Given the description of an element on the screen output the (x, y) to click on. 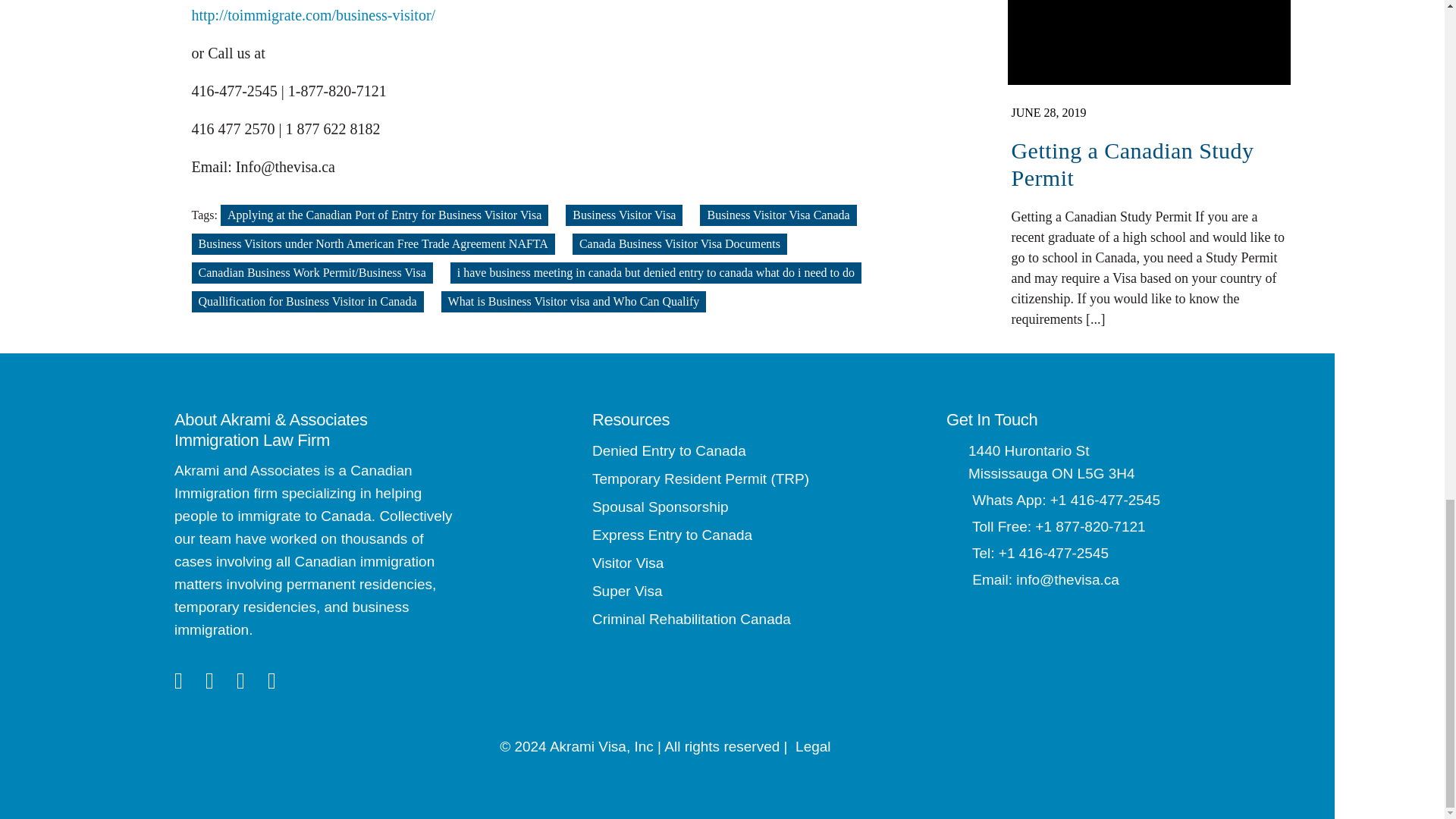
Screenshot 2023-07-13 at 11.42.26 AM (1148, 42)
